Given the description of an element on the screen output the (x, y) to click on. 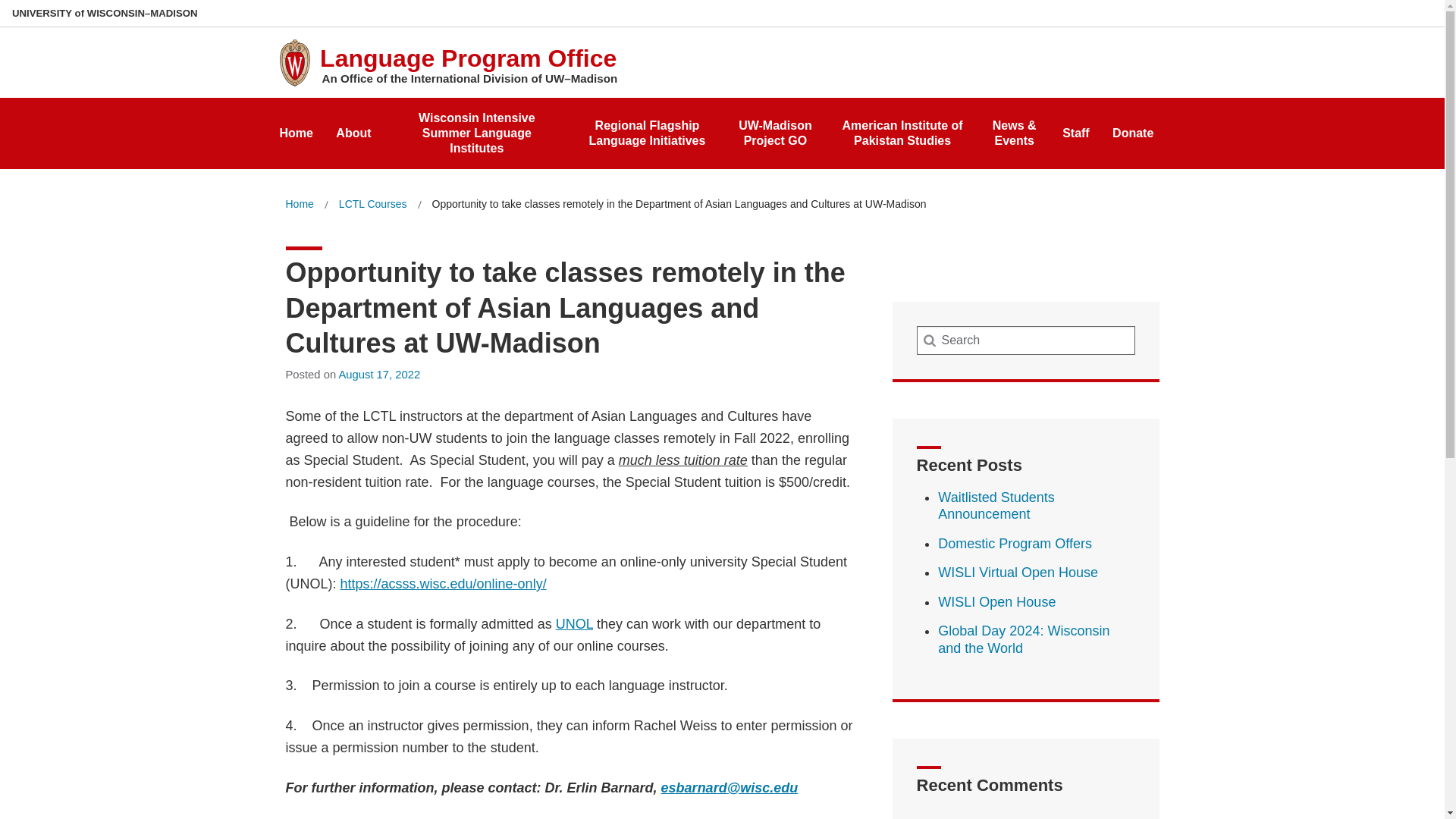
UNOL (574, 623)
Domestic Program Offers (1014, 543)
Regional Flagship Language Initiatives (646, 128)
About (353, 128)
Waitlisted Students Announcement (995, 505)
American Institute of Pakistan Studies (902, 128)
Home (299, 204)
Home (299, 204)
Home (296, 128)
Global Day 2024: Wisconsin and the World (1023, 639)
